Given the description of an element on the screen output the (x, y) to click on. 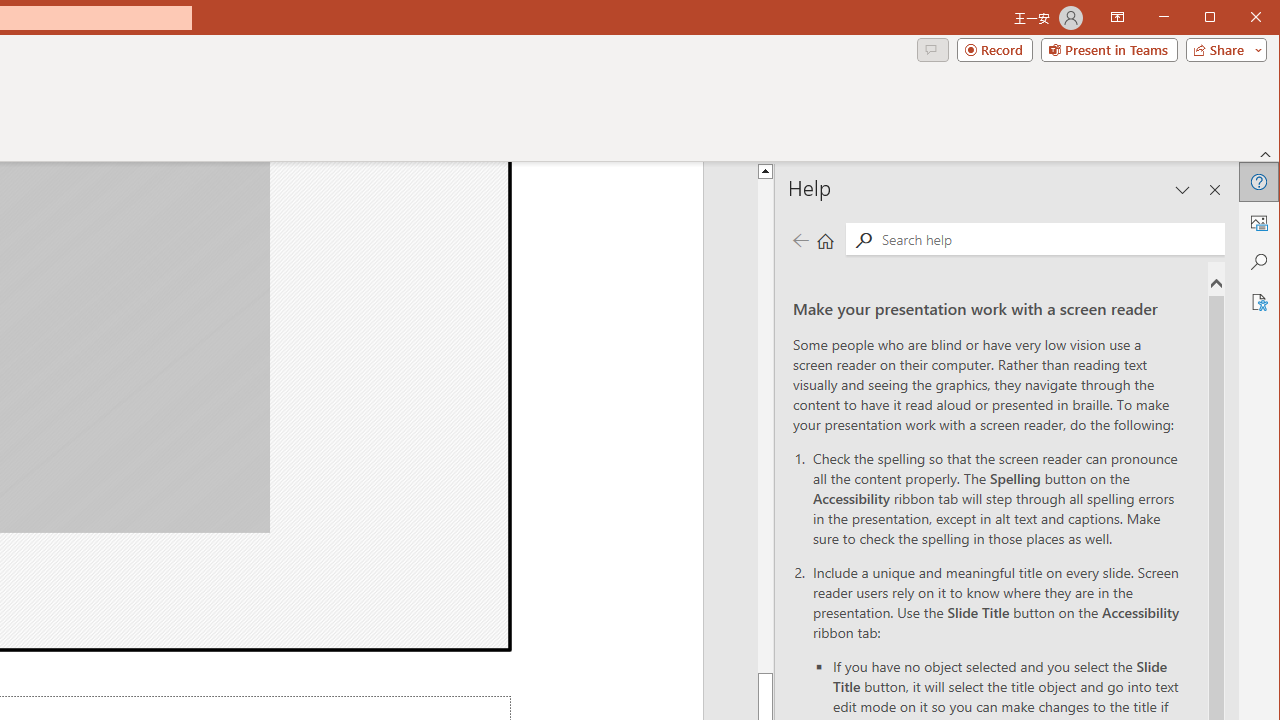
Alt Text (1258, 221)
Search (863, 240)
Task Pane Options (1183, 189)
Accessibility (1258, 301)
Maximize (1238, 18)
Search (1048, 238)
Close pane (1215, 189)
Previous page (800, 240)
